Given the description of an element on the screen output the (x, y) to click on. 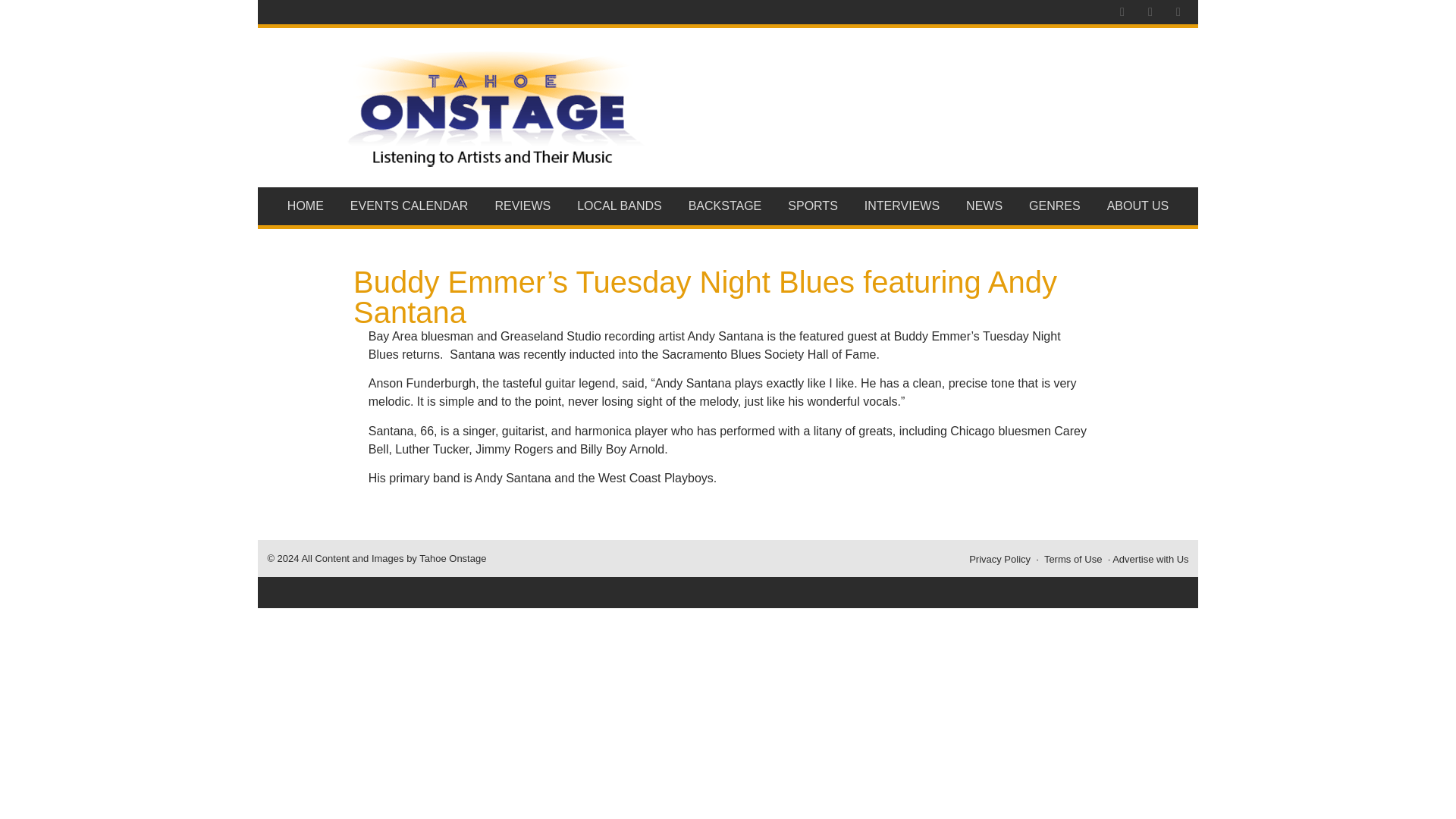
GENRES (1055, 206)
REVIEWS (522, 206)
BACKSTAGE (724, 206)
EVENTS CALENDAR (408, 206)
SPORTS (812, 206)
ABOUT US (1137, 206)
INTERVIEWS (901, 206)
NEWS (984, 206)
LOCAL BANDS (619, 206)
HOME (304, 206)
